Given the description of an element on the screen output the (x, y) to click on. 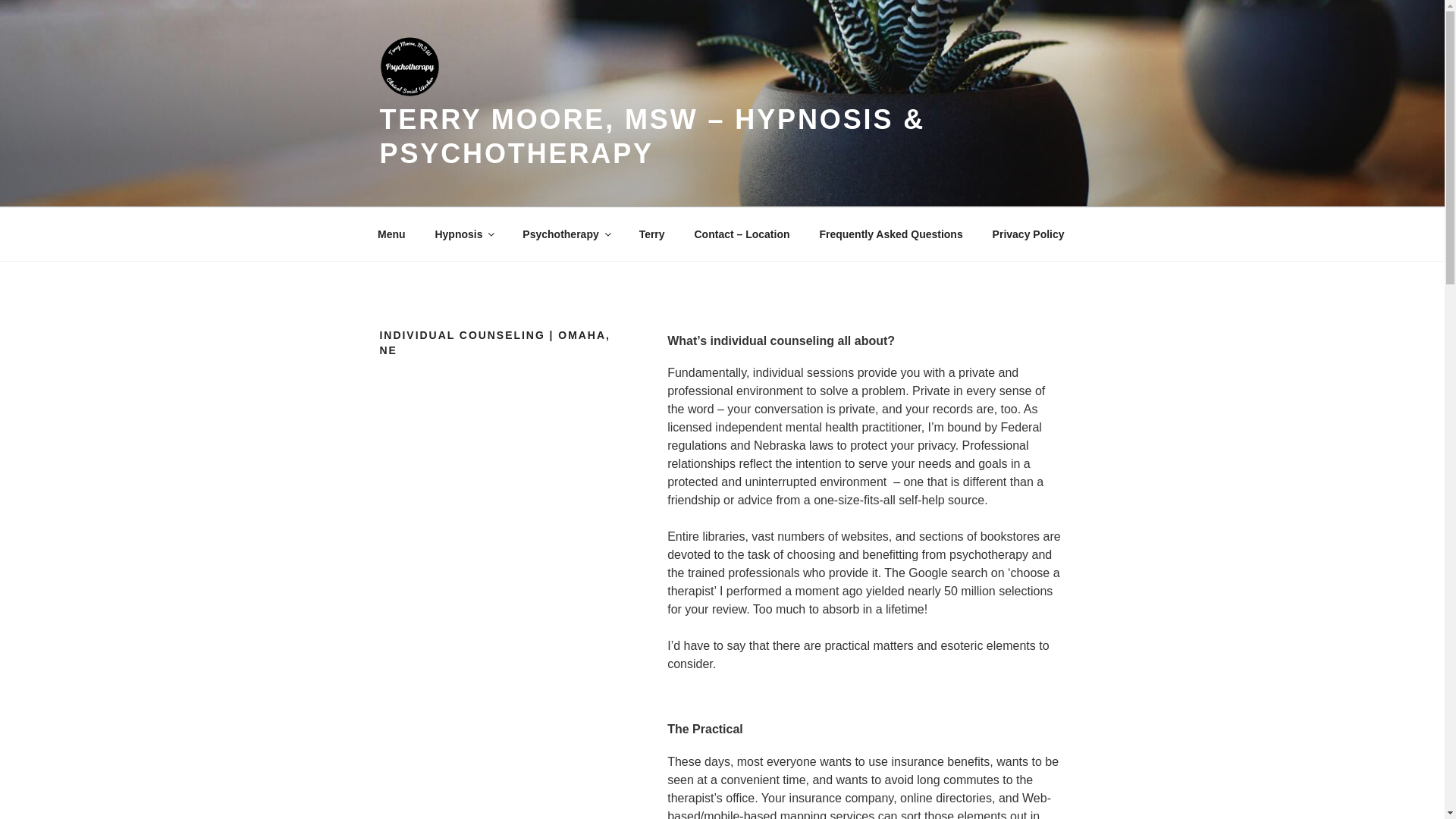
Menu (391, 233)
Hypnosis (464, 233)
Terry (652, 233)
Psychotherapy (566, 233)
Frequently Asked Questions (890, 233)
Privacy Policy (1027, 233)
